Given the description of an element on the screen output the (x, y) to click on. 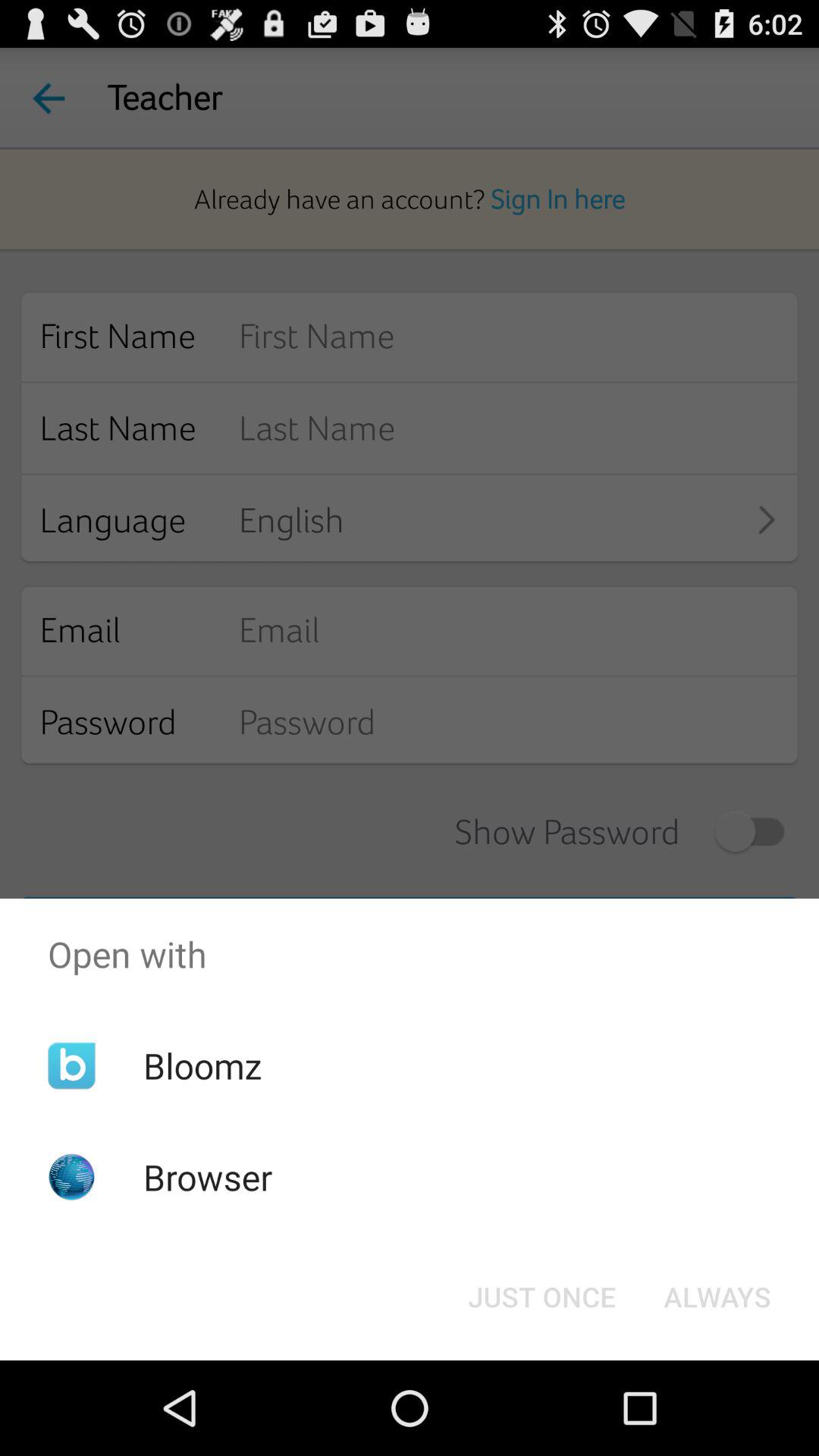
turn off icon to the right of the just once icon (717, 1296)
